Given the description of an element on the screen output the (x, y) to click on. 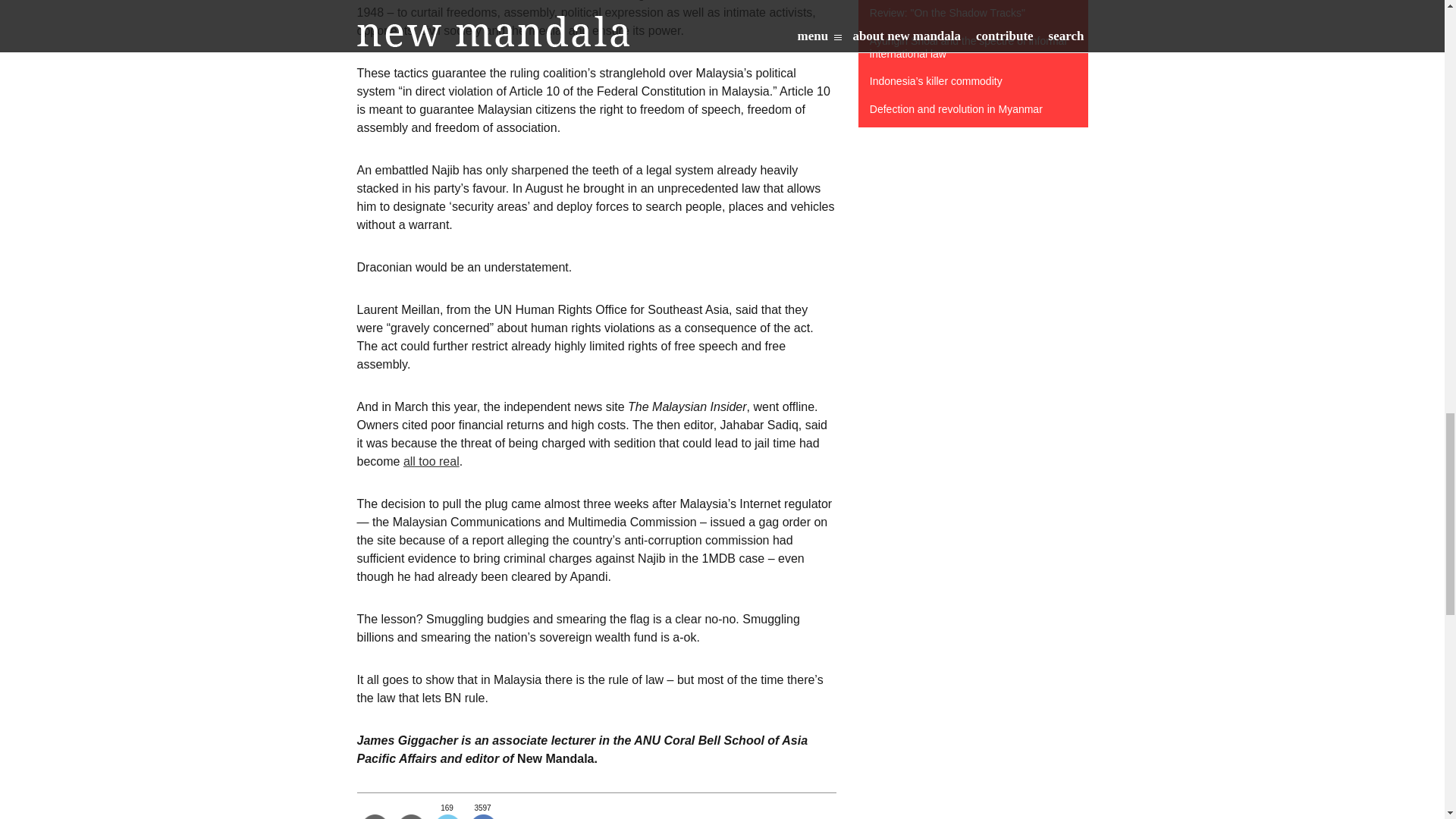
all too real (431, 461)
